Given the description of an element on the screen output the (x, y) to click on. 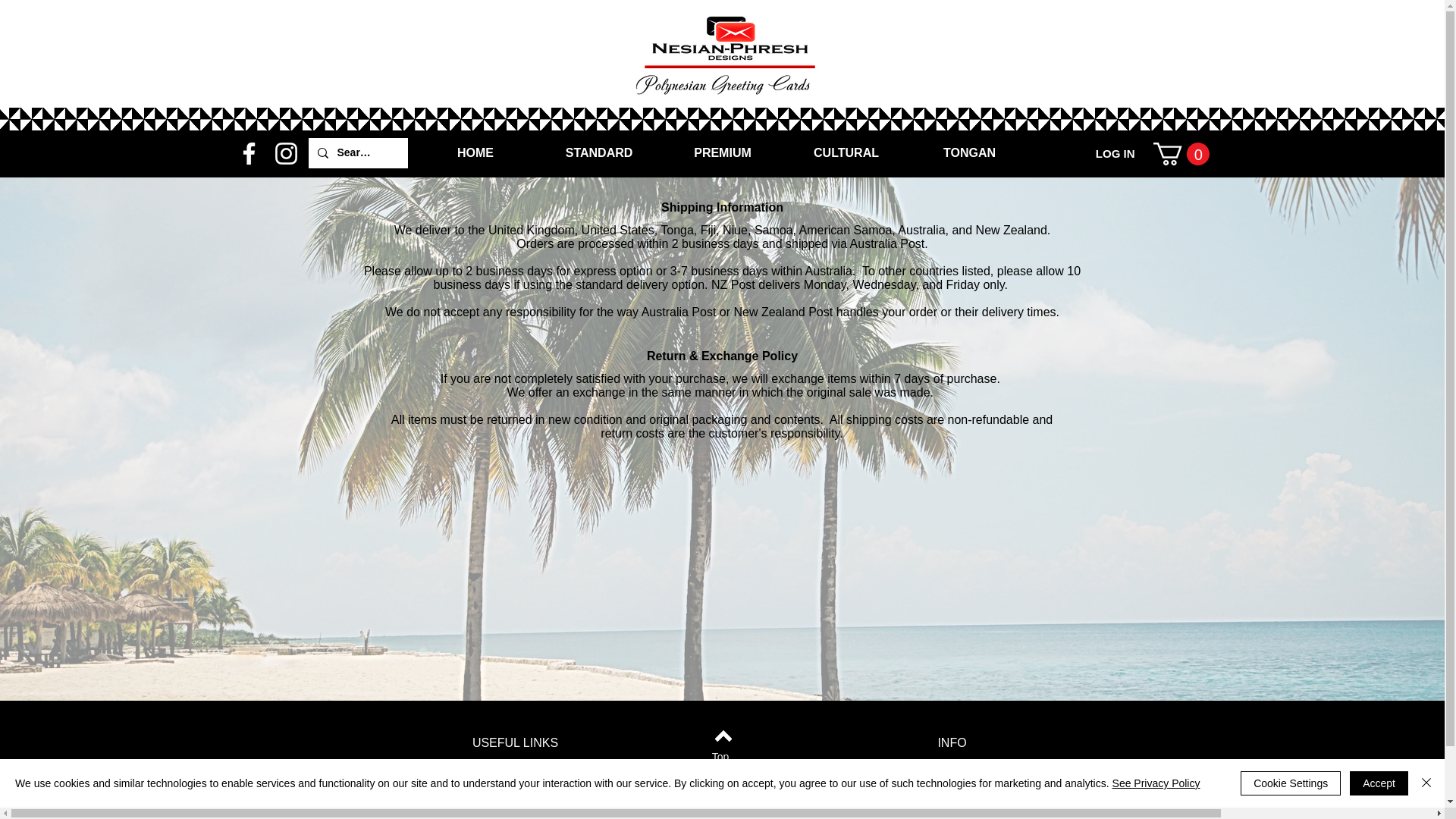
Accept (1378, 783)
About (515, 787)
STANDARD (599, 152)
LOG IN (1114, 153)
Cookie Settings (1290, 783)
Top (719, 757)
HOME (474, 152)
Wholesale Pricing (951, 787)
Home (515, 765)
Privacy Policy (952, 765)
